Given the description of an element on the screen output the (x, y) to click on. 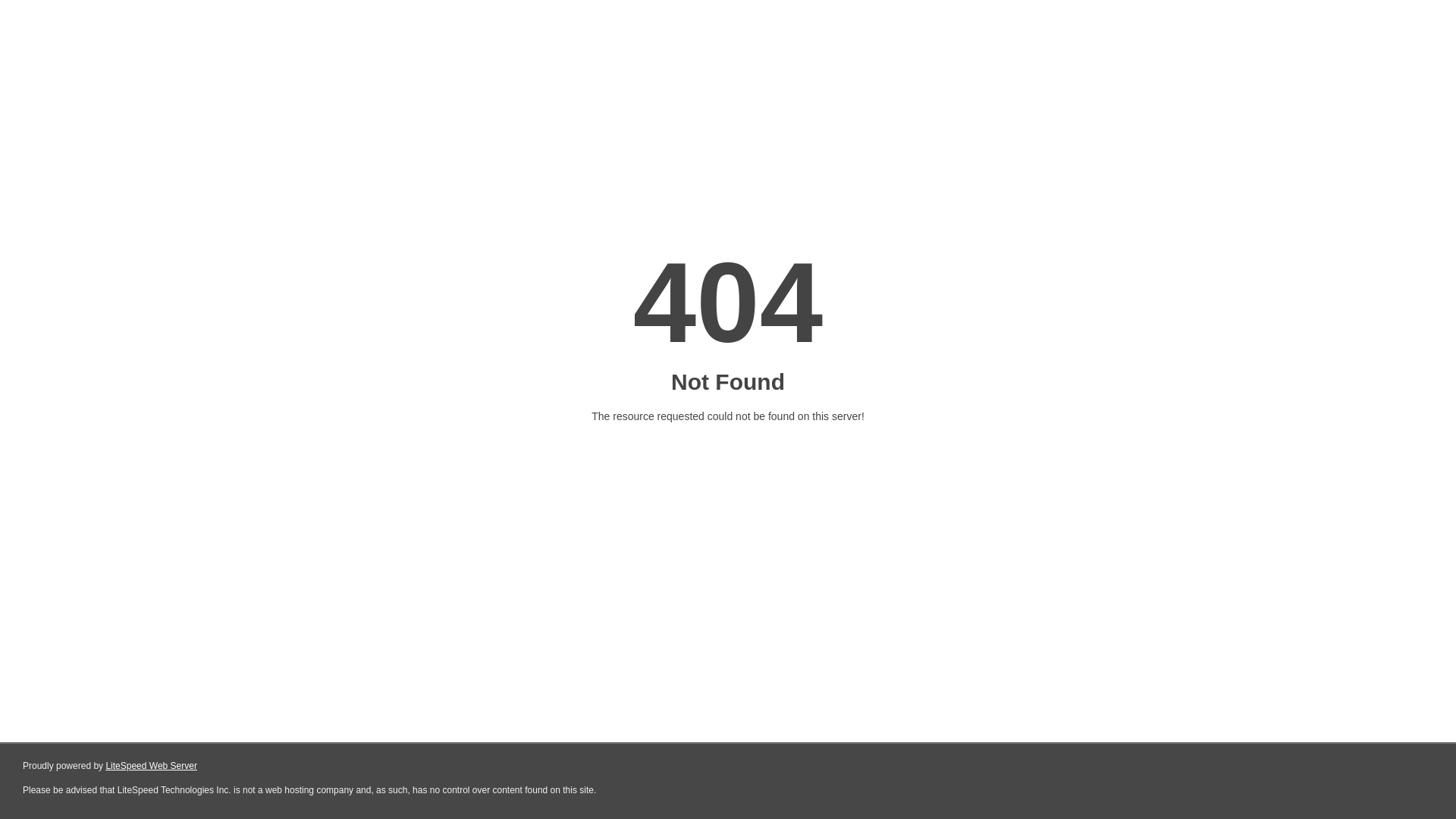
LiteSpeed Web Server Element type: text (151, 765)
